Given the description of an element on the screen output the (x, y) to click on. 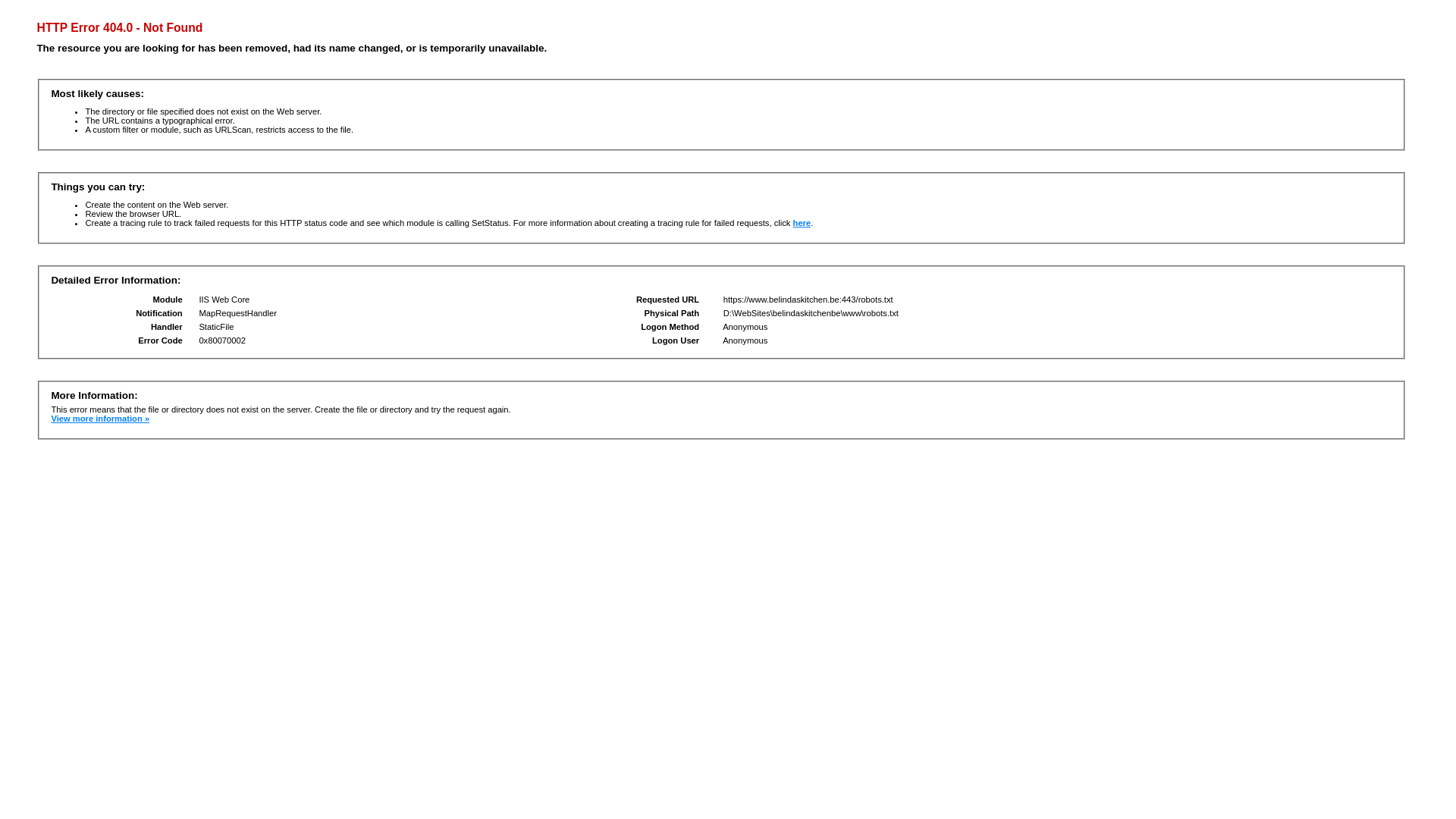
here Element type: text (802, 222)
